Given the description of an element on the screen output the (x, y) to click on. 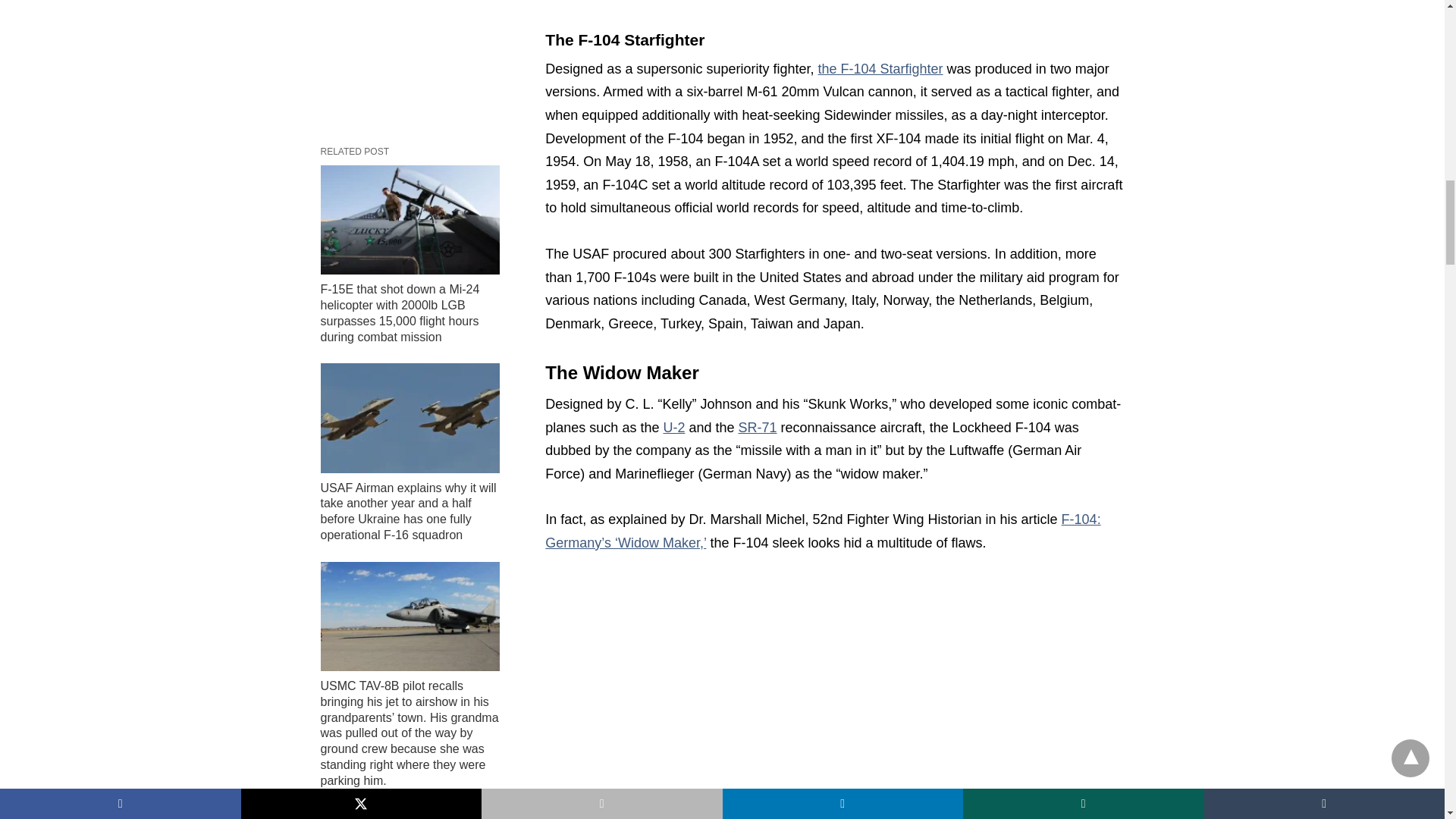
U-2 (673, 427)
3rd party ad content (409, 55)
the F-104 Starfighter (880, 68)
